Given the description of an element on the screen output the (x, y) to click on. 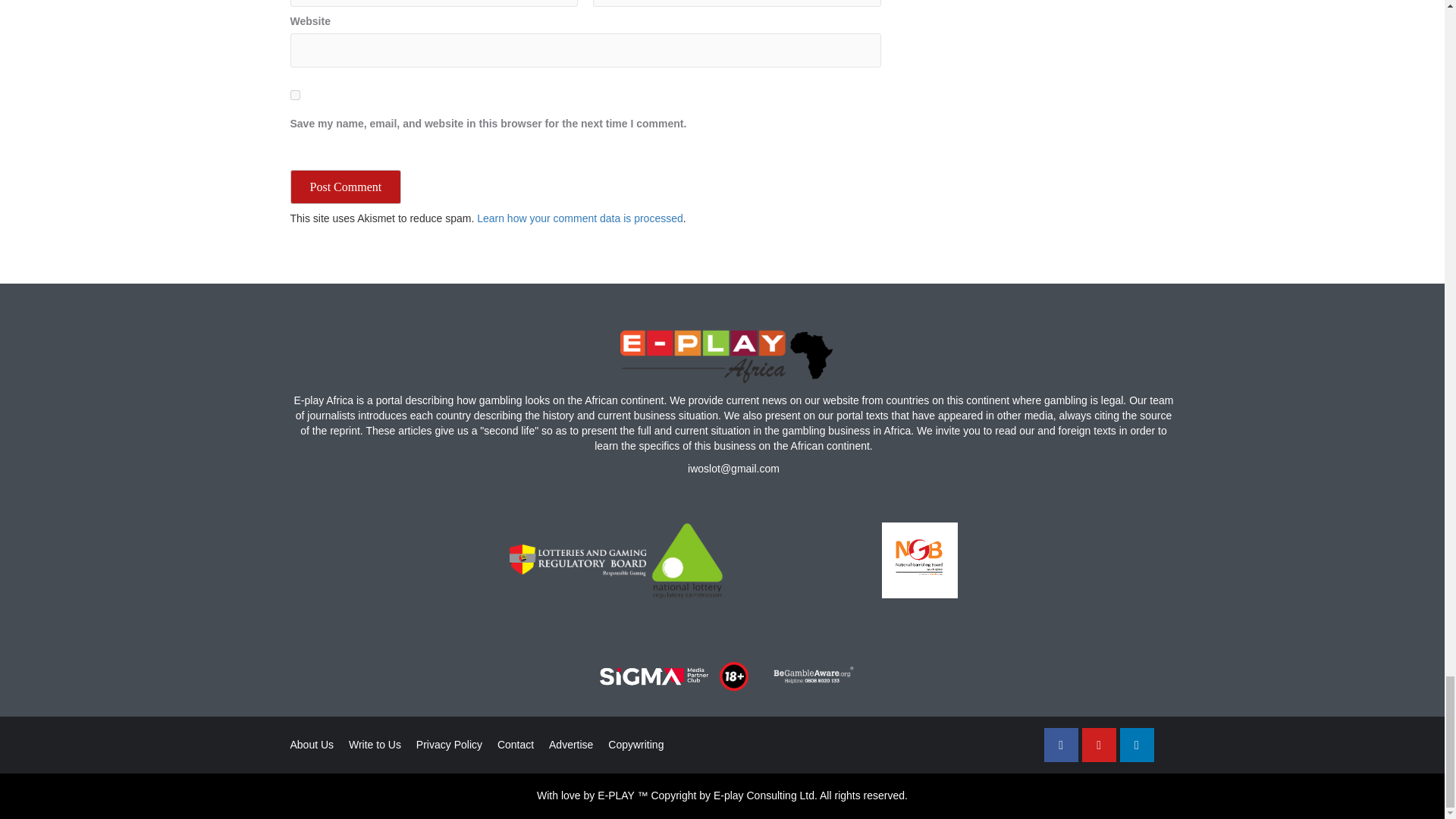
Post Comment (345, 186)
